Given the description of an element on the screen output the (x, y) to click on. 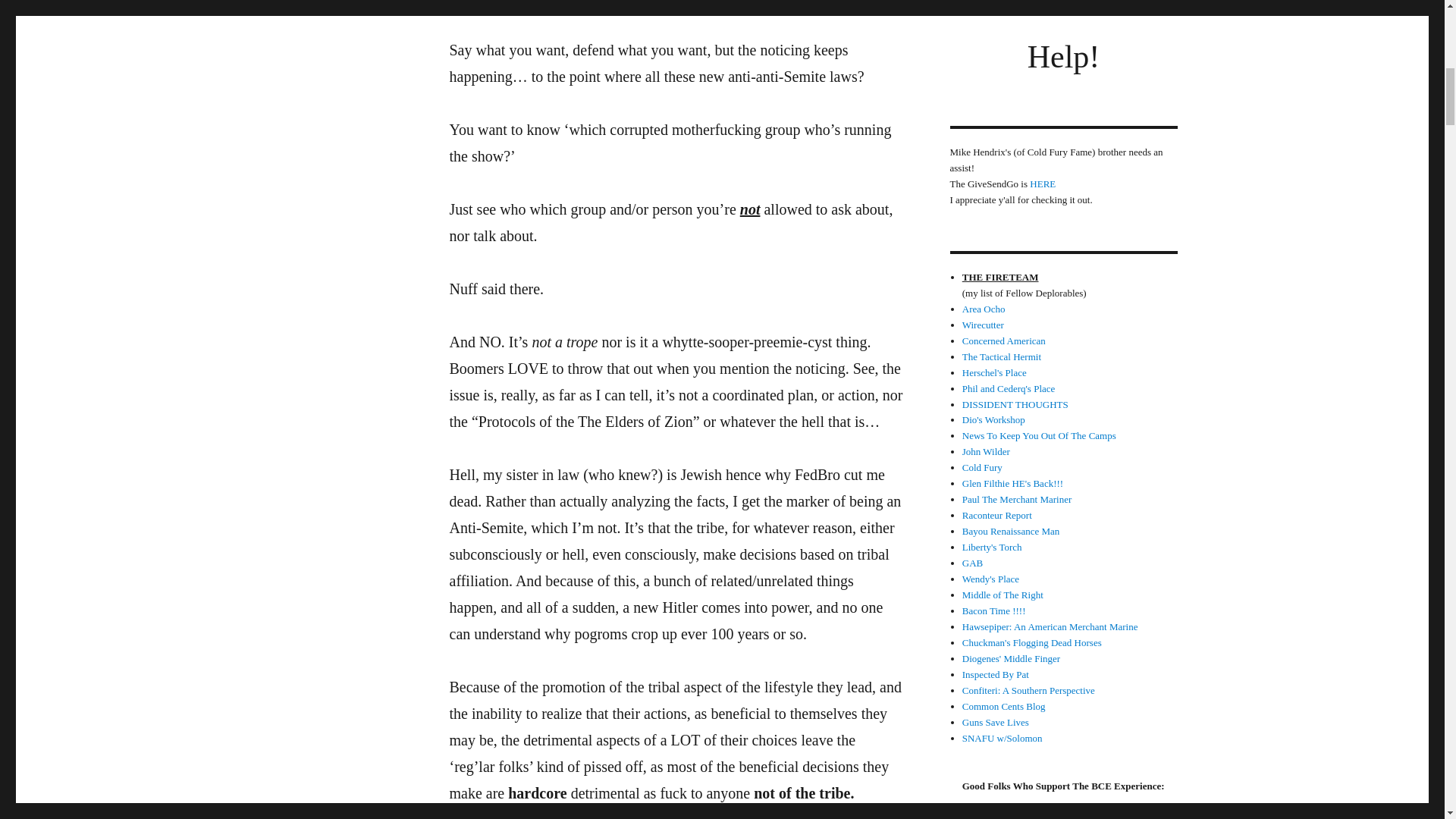
Area Ocho (984, 308)
Concerned American (1003, 340)
Wirecutter (983, 324)
Herschel's Place (994, 372)
The Tactical Hermit (1001, 356)
HERE (1042, 183)
